Given the description of an element on the screen output the (x, y) to click on. 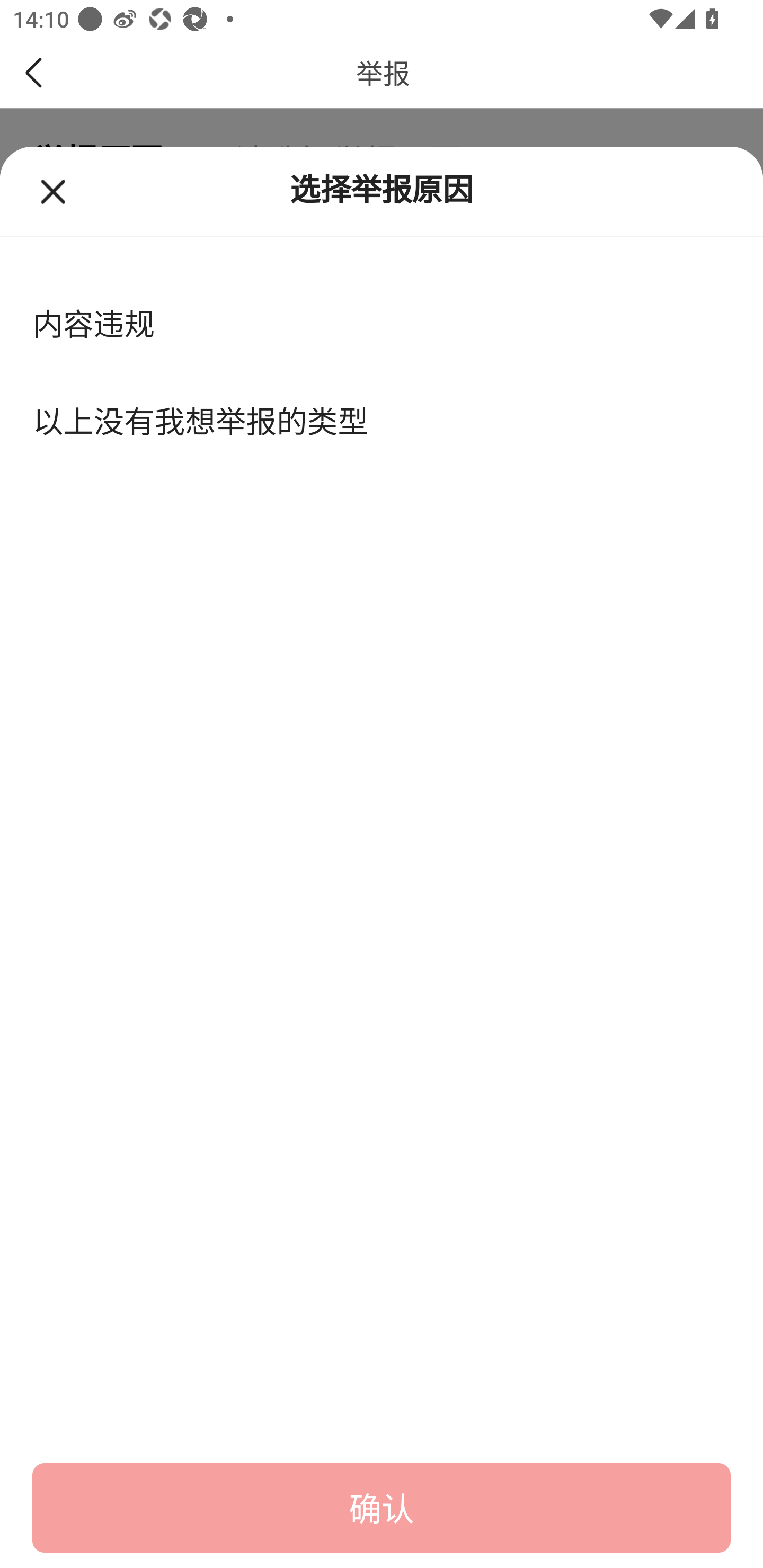
返回，按钮 (37, 72)
关闭 (64, 191)
内容违规 (190, 325)
以上没有我想举报的类型 (190, 422)
提交 (381, 1507)
